Given the description of an element on the screen output the (x, y) to click on. 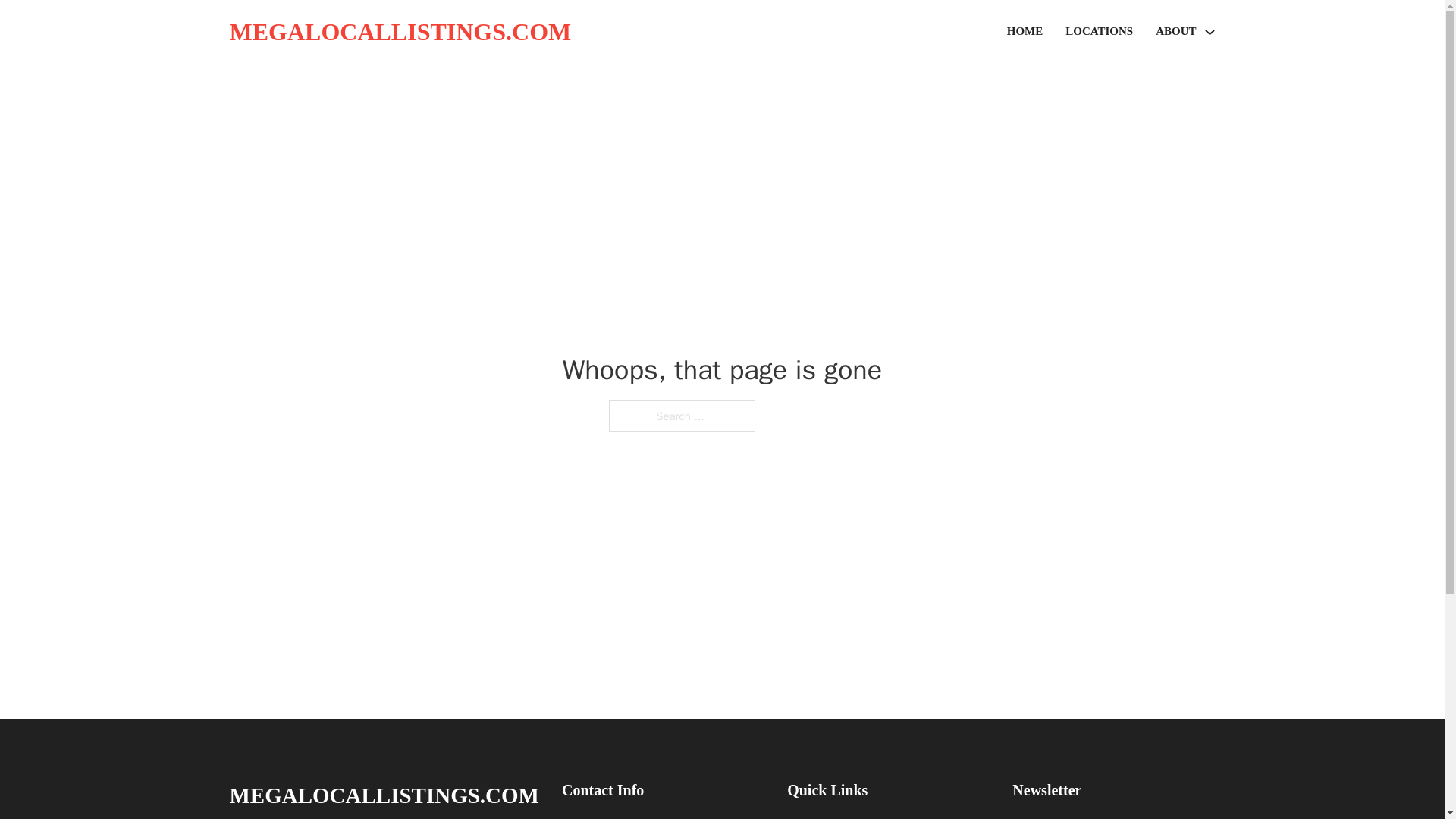
MEGALOCALLISTINGS.COM (383, 795)
HOME (1025, 31)
LOCATIONS (1098, 31)
MEGALOCALLISTINGS.COM (399, 31)
